Given the description of an element on the screen output the (x, y) to click on. 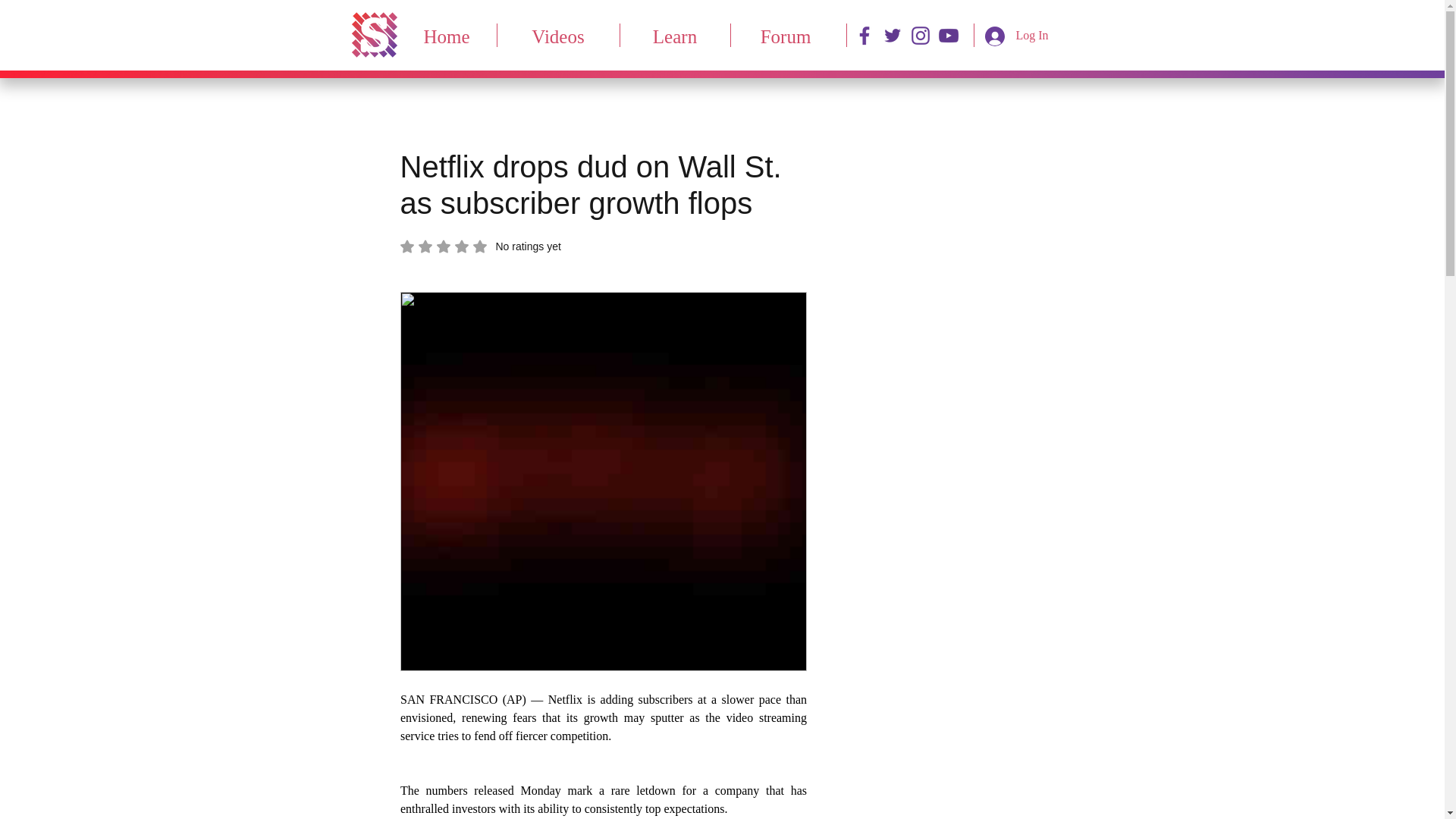
Forum (785, 34)
Videos (558, 34)
Home (480, 246)
Learn (446, 34)
Log In (675, 34)
